Given the description of an element on the screen output the (x, y) to click on. 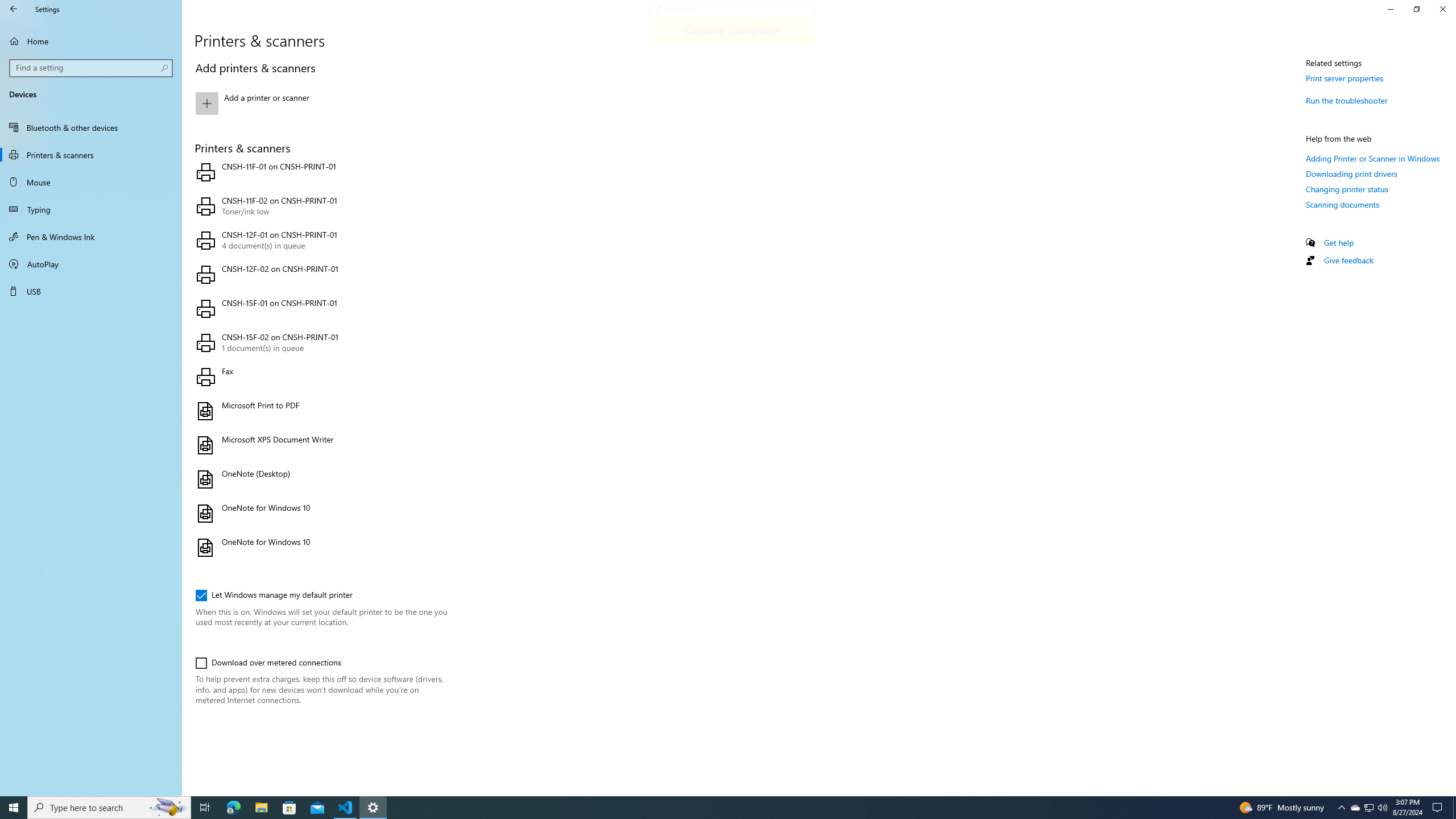
Typing (91, 208)
Add a printer or scanner (319, 103)
Fax (319, 376)
Bluetooth & other devices (91, 126)
CNSH-12F-02 on CNSH-PRINT-01 (319, 274)
OneNote (Desktop) (319, 479)
Scanning documents (1343, 204)
USB (91, 290)
